Given the description of an element on the screen output the (x, y) to click on. 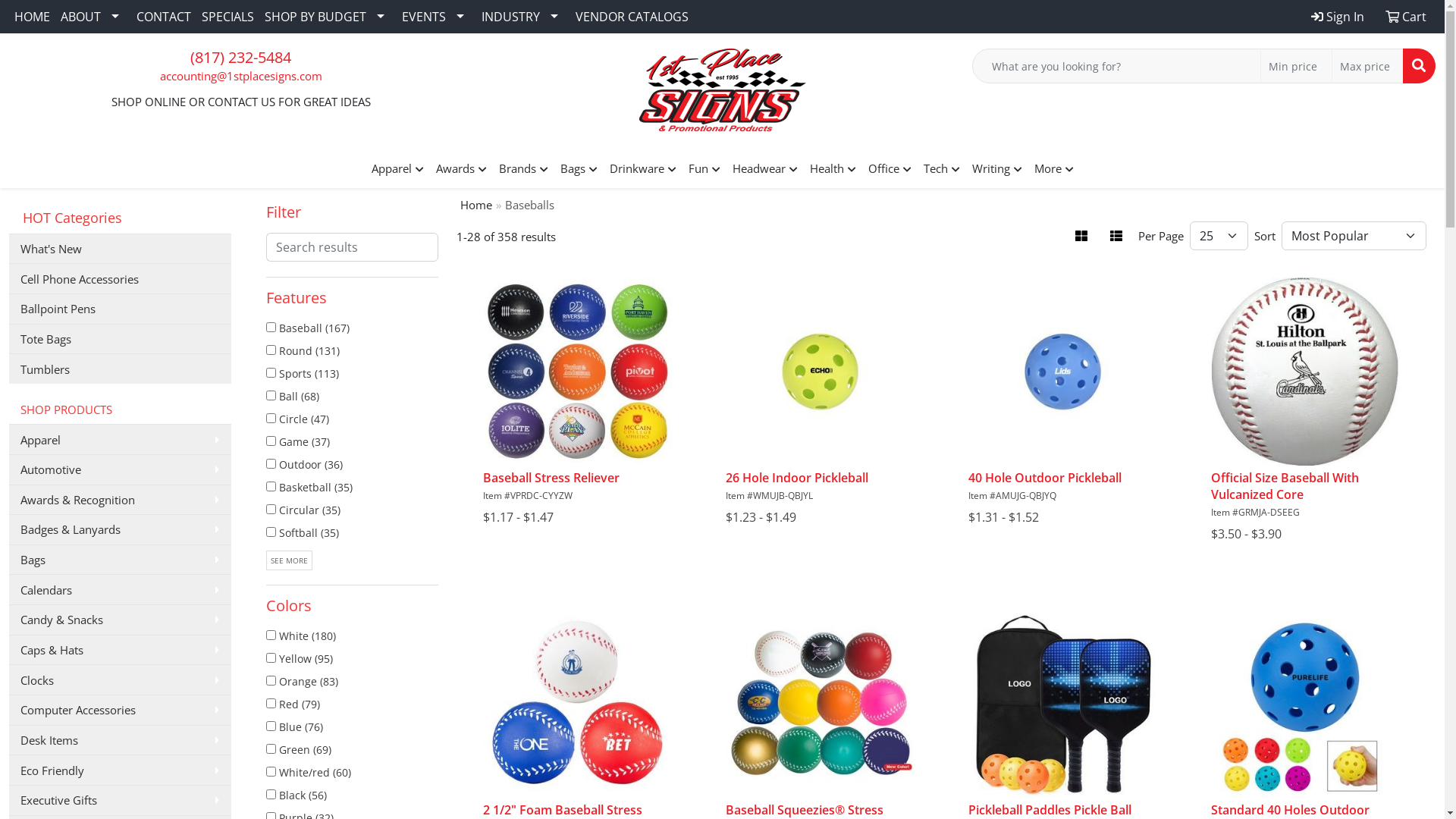
Sign In Element type: text (1337, 16)
Cart Element type: text (1405, 16)
Health Element type: text (832, 169)
Tech Element type: text (941, 169)
Apparel Element type: text (120, 438)
INDUSTRY Element type: text (523, 16)
More Element type: text (1053, 169)
SHOP BY BUDGET Element type: text (327, 16)
Awards Element type: text (460, 169)
Clocks Element type: text (120, 679)
Eco Friendly Element type: text (120, 769)
What's New Element type: text (120, 248)
Drinkware Element type: text (642, 169)
Candy & Snacks Element type: text (120, 619)
Automotive Element type: text (120, 469)
VENDOR CATALOGS Element type: text (631, 16)
Executive Gifts Element type: text (120, 799)
Bags Element type: text (120, 559)
accounting@1stplacesigns.com Element type: text (240, 75)
(817) 232-5484 Element type: text (240, 57)
Brands Element type: text (523, 169)
HOME Element type: text (32, 16)
Tote Bags Element type: text (120, 338)
Caps & Hats Element type: text (120, 649)
Writing Element type: text (997, 169)
Computer Accessories Element type: text (120, 709)
ABOUT Element type: text (93, 16)
Cell Phone Accessories Element type: text (120, 278)
CONTACT Element type: text (163, 16)
Calendars Element type: text (120, 589)
Ballpoint Pens Element type: text (120, 308)
Tumblers Element type: text (120, 368)
Fun Element type: text (704, 169)
Bags Element type: text (577, 169)
Apparel Element type: text (397, 169)
Badges & Lanyards Element type: text (120, 529)
SPECIALS Element type: text (227, 16)
Headwear Element type: text (764, 169)
EVENTS Element type: text (436, 16)
Desk Items Element type: text (120, 739)
Awards & Recognition Element type: text (120, 498)
Office Element type: text (888, 169)
